Given the description of an element on the screen output the (x, y) to click on. 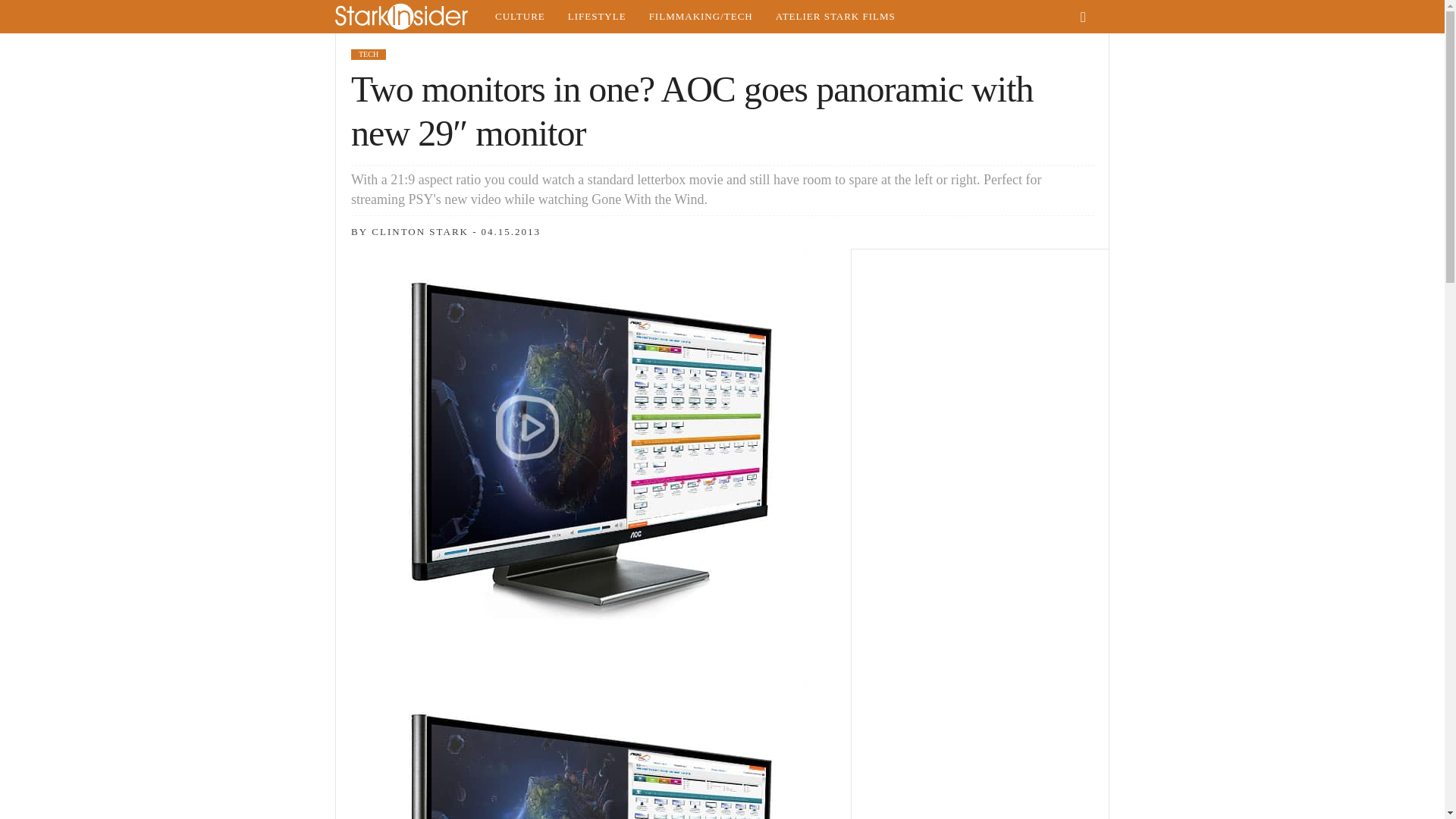
CLINTON STARK (419, 231)
LIFESTYLE (596, 16)
Stark Insider (408, 16)
AOC 29" Cinematic Monitor (593, 749)
Tech, gadgets, camera news and reviews from Silicon Valley (700, 16)
Indie film, music, arts in San Francisco and Silicon Valley (519, 16)
ATELIER STARK FILMS (835, 16)
CULTURE (519, 16)
TECH (367, 54)
